Given the description of an element on the screen output the (x, y) to click on. 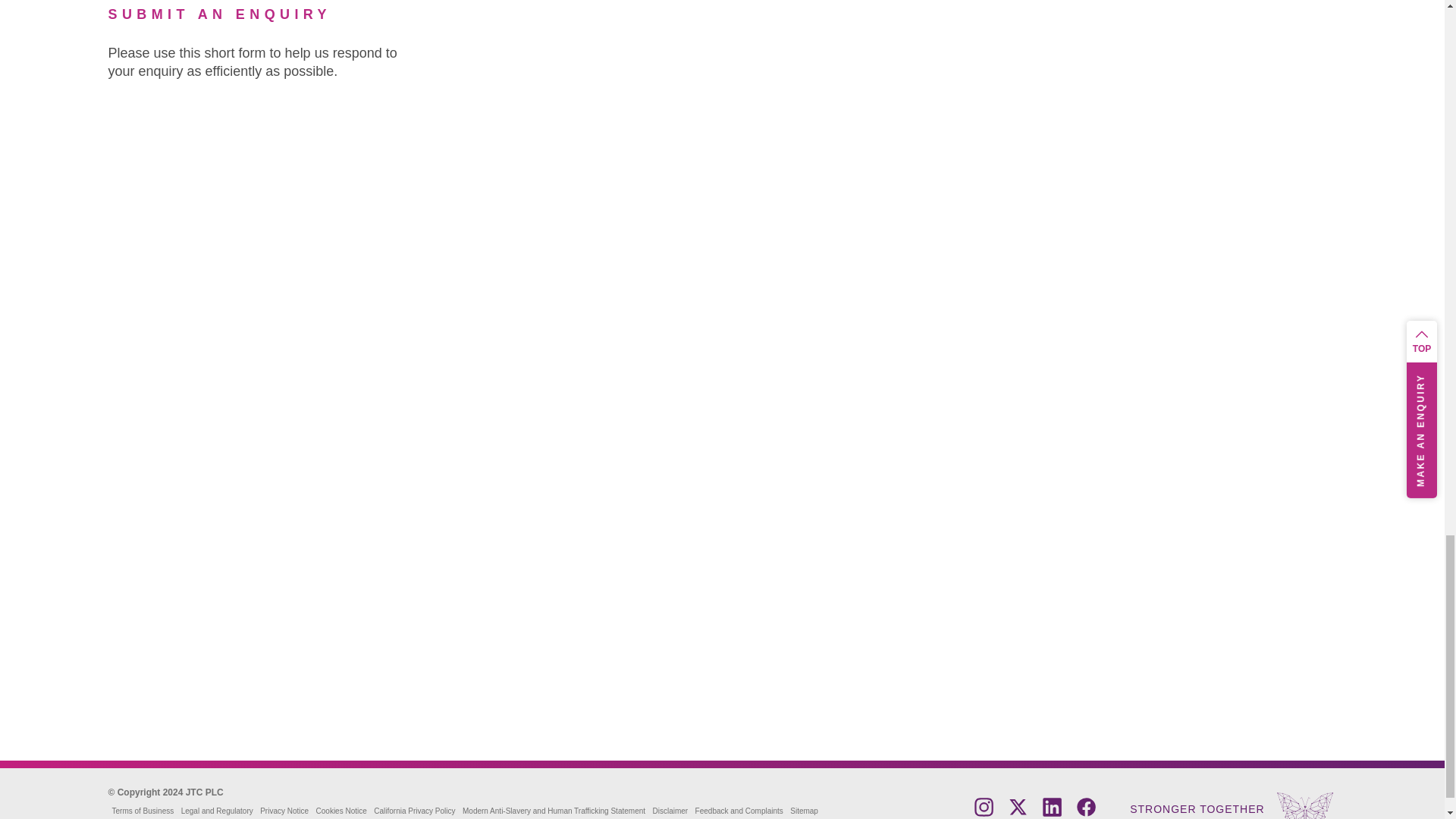
Linkedin profile (1051, 812)
Twitter profile (1018, 812)
Instagram profile (983, 812)
Facebook profile (1086, 812)
